Given the description of an element on the screen output the (x, y) to click on. 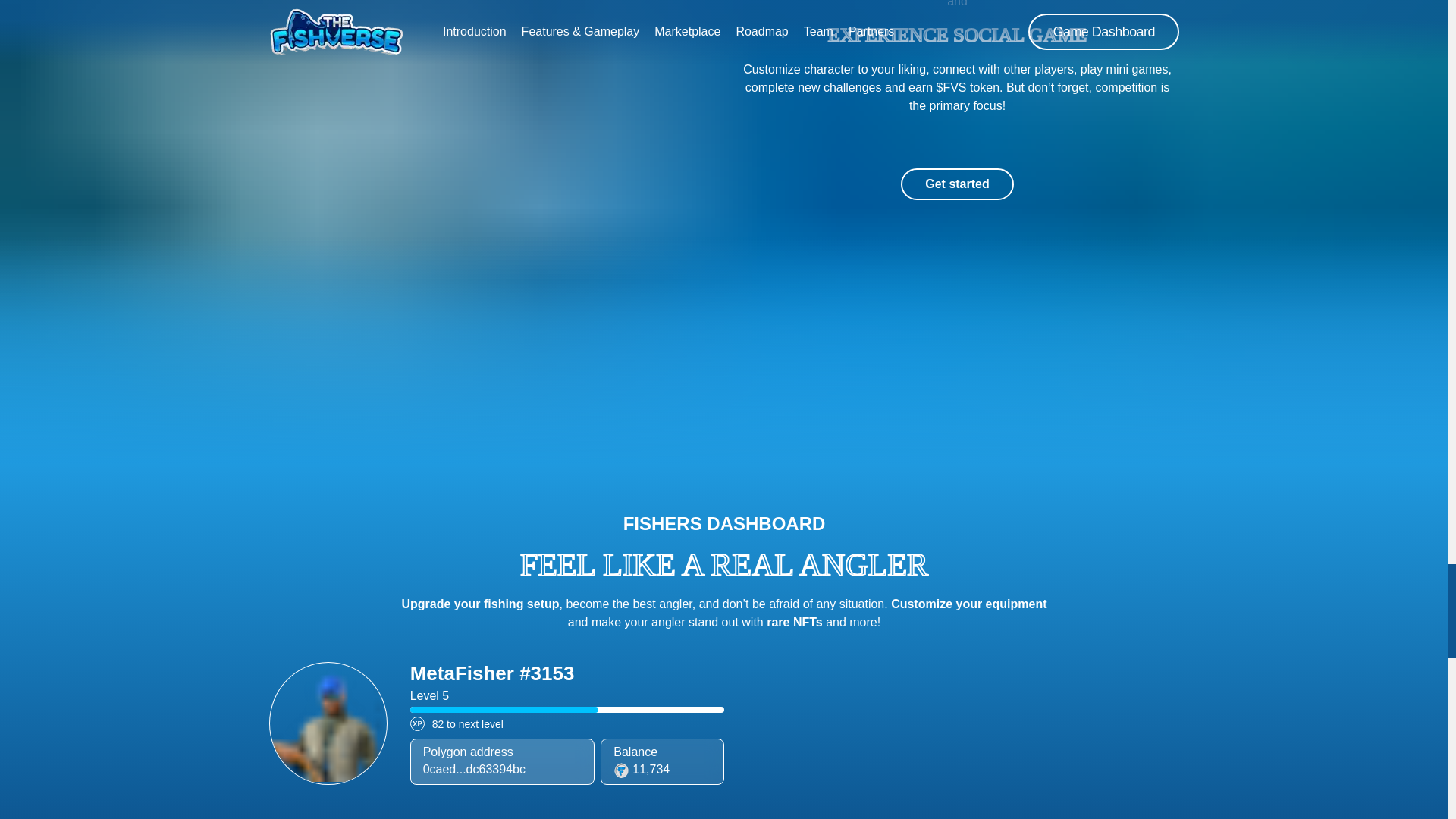
Get started (957, 183)
